Given the description of an element on the screen output the (x, y) to click on. 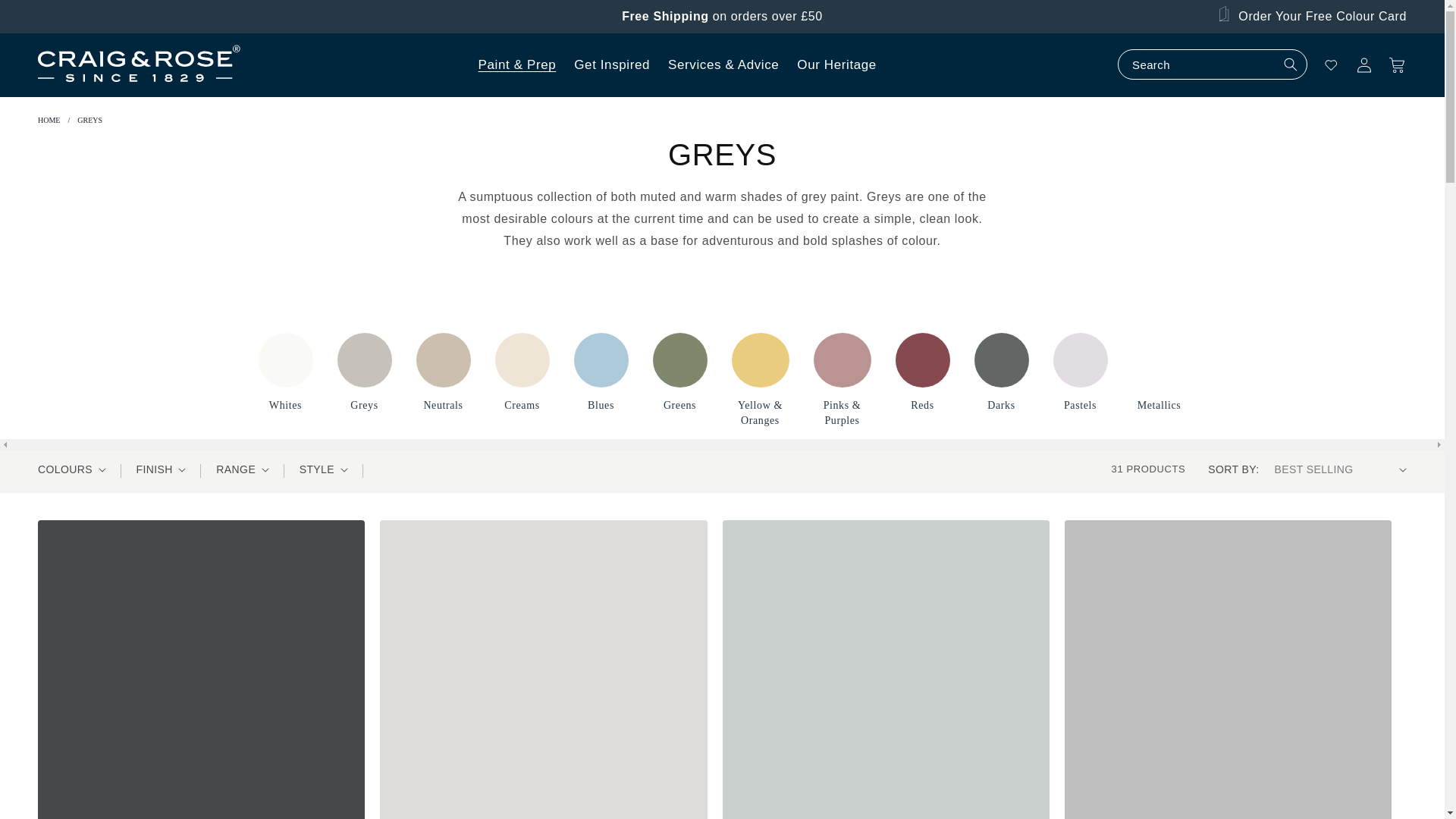
SKIP TO CONTENT (45, 17)
Order Your Free Colour Card (1311, 16)
